Given the description of an element on the screen output the (x, y) to click on. 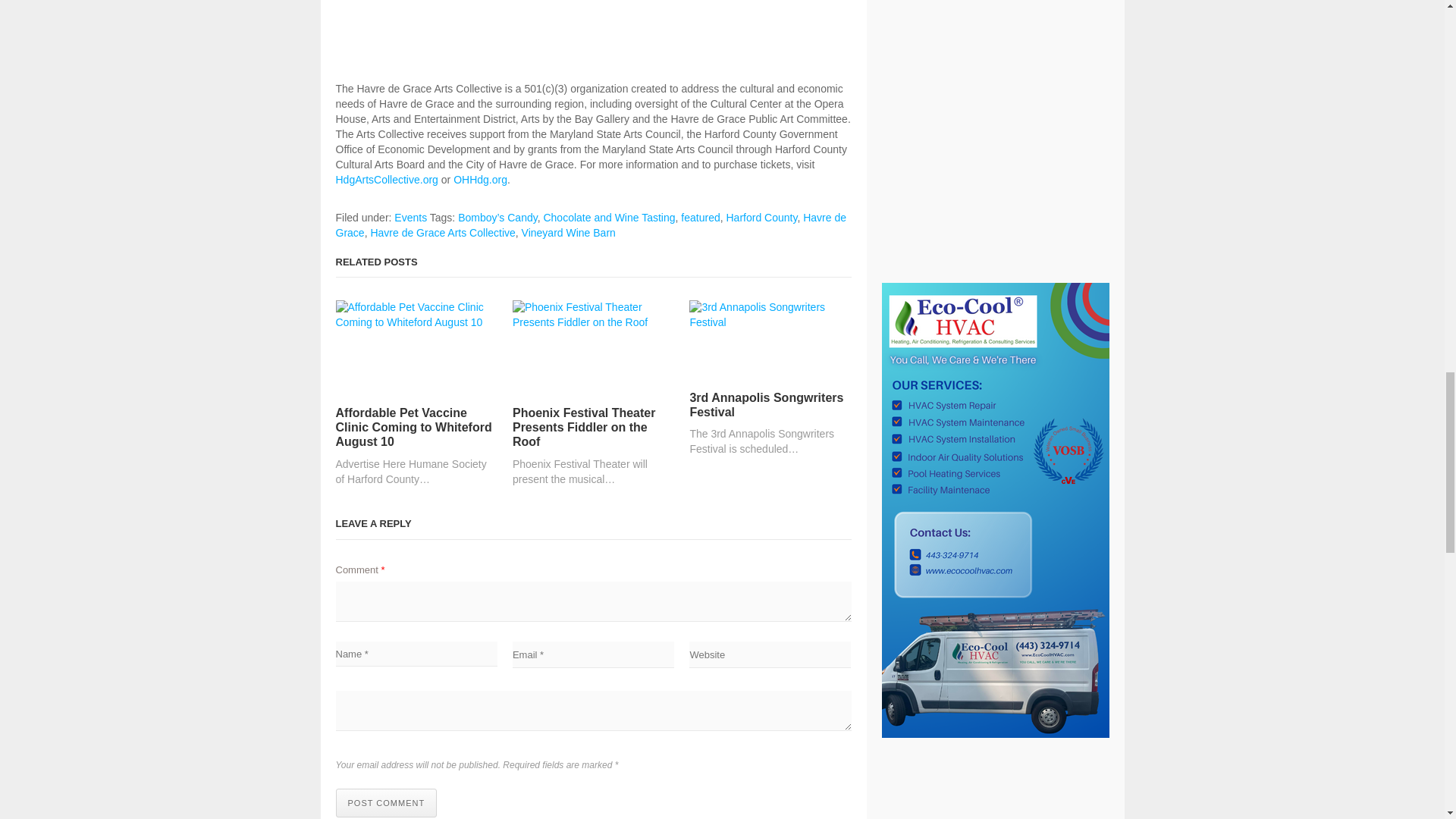
Chocolate and Wine Tasting (609, 217)
OHHdg.org (479, 179)
HdgArtsCollective.org (386, 179)
Events (410, 217)
